Given the description of an element on the screen output the (x, y) to click on. 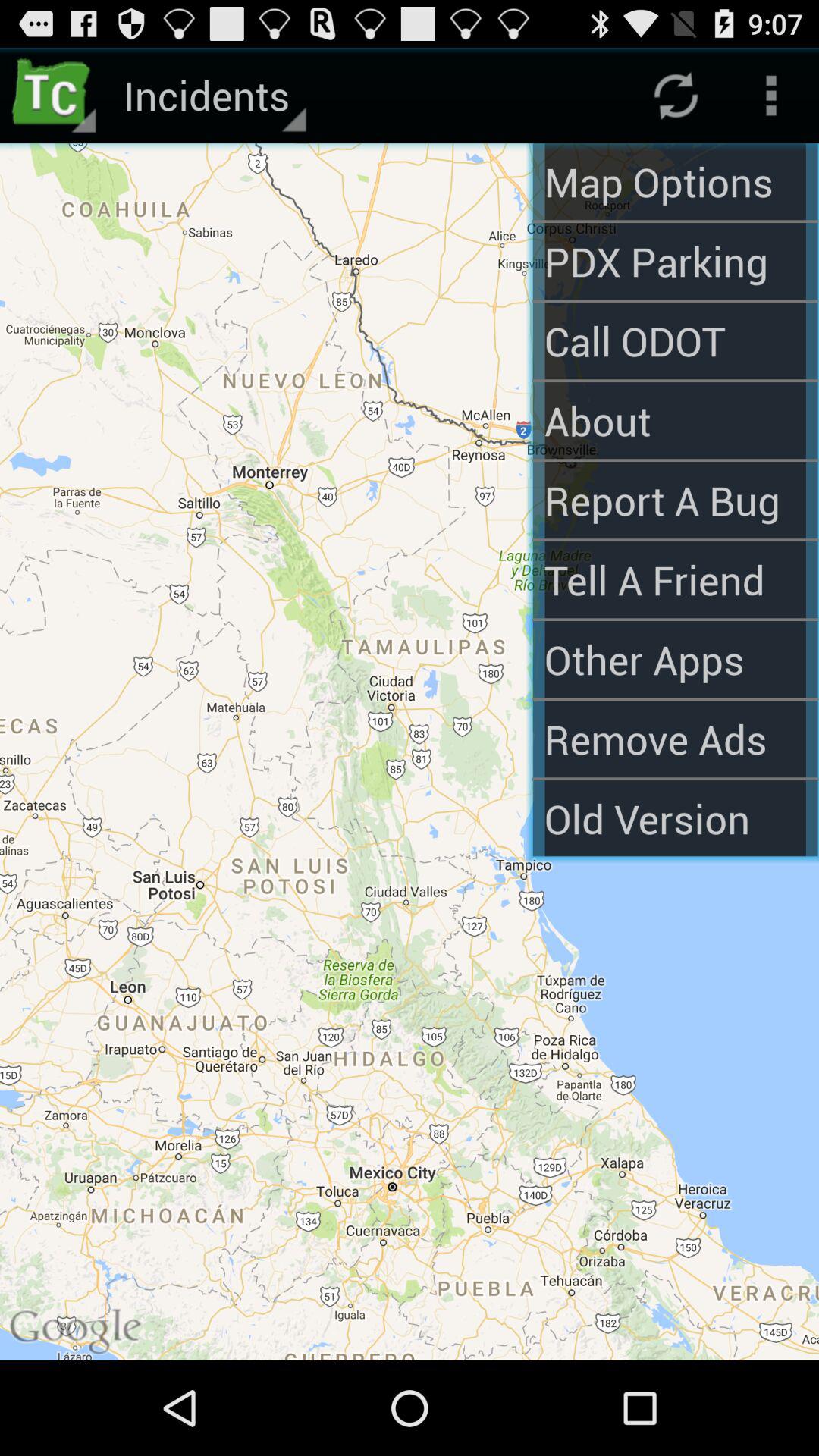
turn off app next to incidents (55, 95)
